Given the description of an element on the screen output the (x, y) to click on. 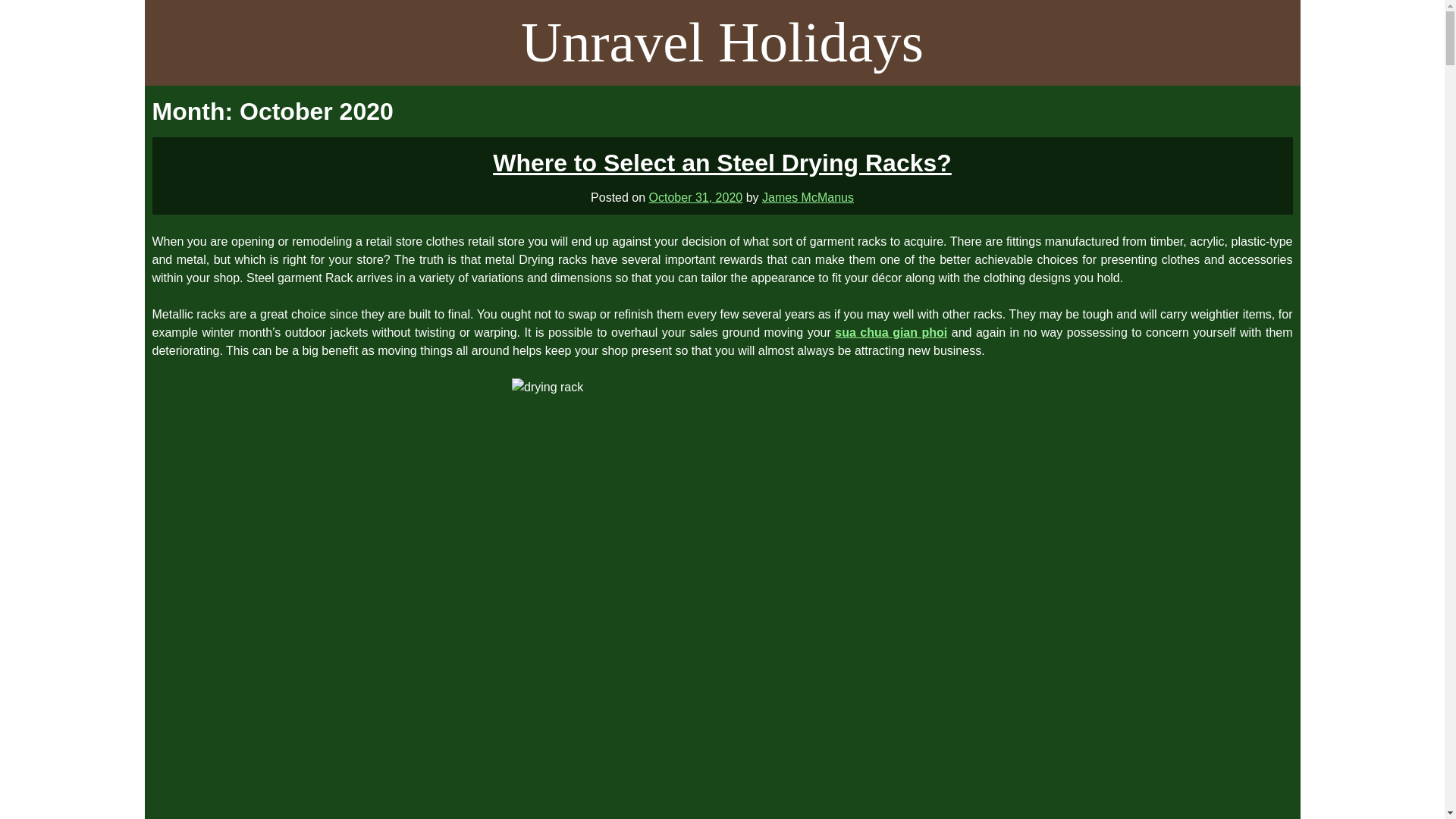
Where to Select an Steel Drying Racks? (722, 162)
October 31, 2020 (695, 196)
James McManus (807, 196)
Unravel Holidays (722, 41)
sua chua gian phoi (890, 332)
